Given the description of an element on the screen output the (x, y) to click on. 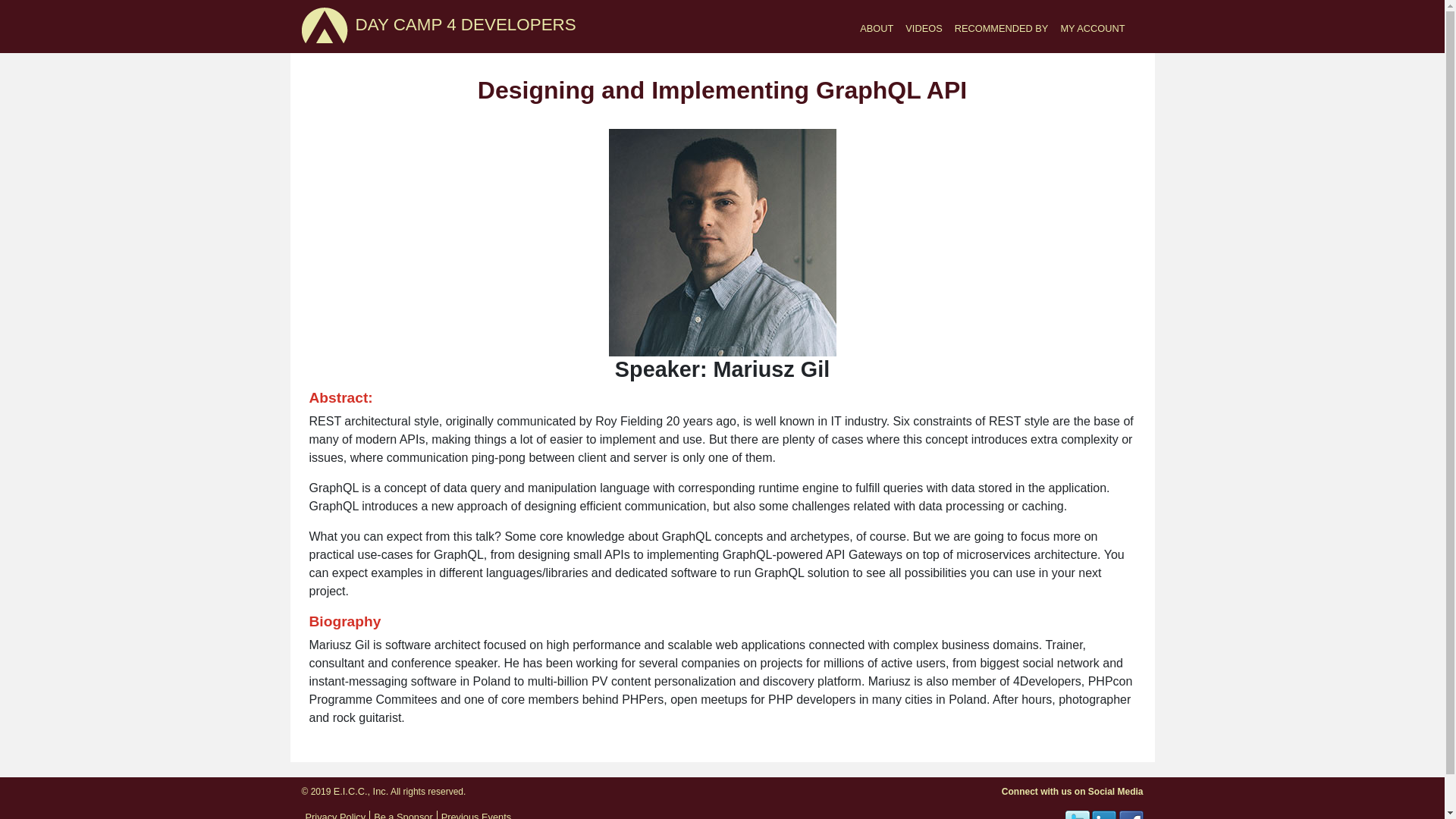
Previous Events (476, 815)
ABOUT (876, 28)
E.I.C.C., Inc. (360, 790)
MY ACCOUNT (1092, 28)
Privacy Policy (334, 815)
DAY CAMP 4 DEVELOPERS (324, 25)
DAY CAMP 4 DEVELOPERS (465, 25)
VIDEOS (923, 28)
RECOMMENDED BY (1001, 28)
Be a Sponsor (403, 815)
DAY CAMP 4 DEVELOPERS (465, 25)
